Given the description of an element on the screen output the (x, y) to click on. 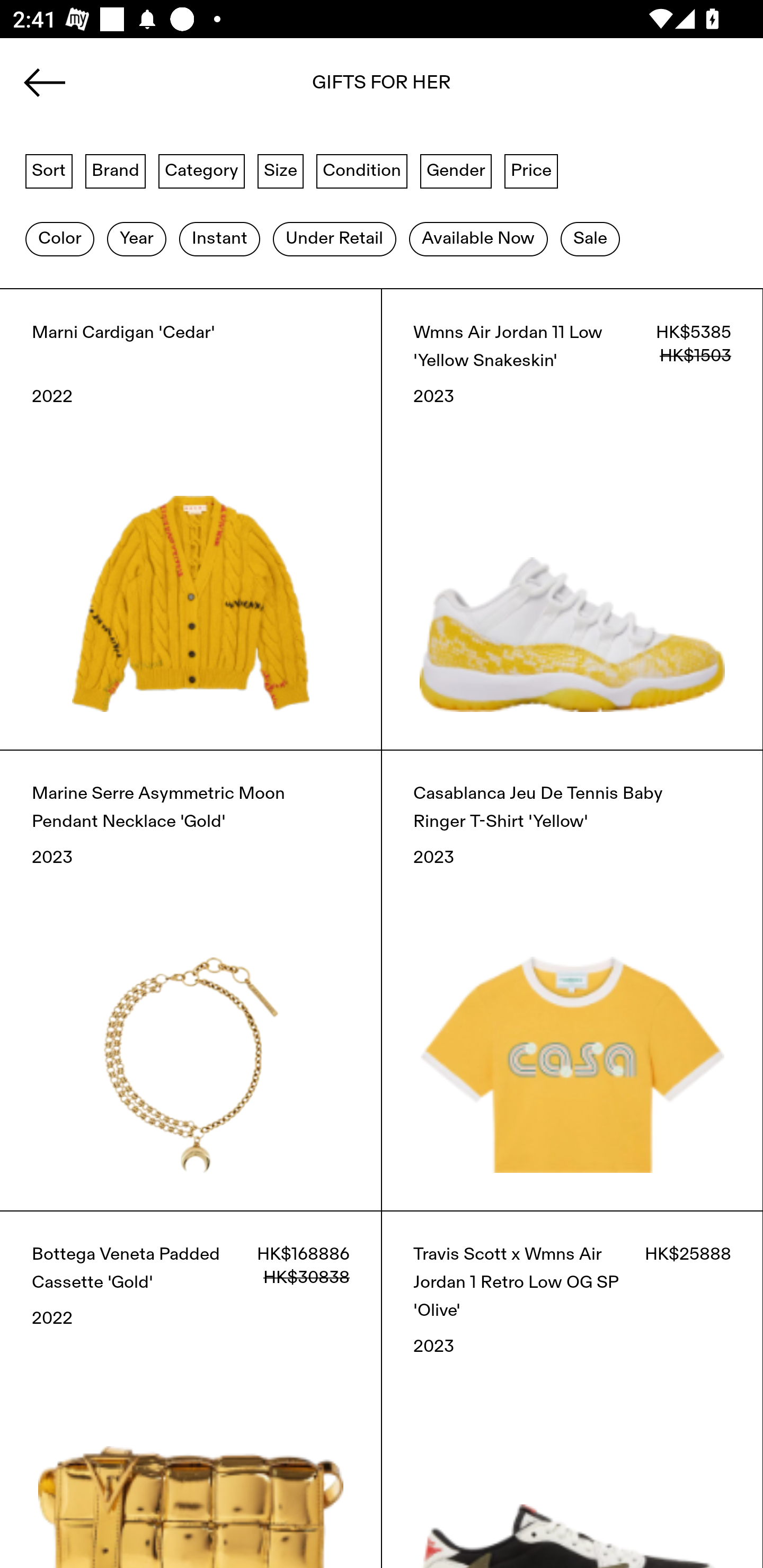
air jordan (381, 88)
Sort (48, 170)
Brand (115, 170)
Category (201, 170)
Size (280, 170)
Condition (361, 170)
Gender (455, 170)
Price (530, 170)
Color (59, 239)
Year (136, 239)
Instant (219, 239)
Under Retail (334, 239)
Available Now (477, 239)
Sale (589, 239)
Marni Cardigan 'Cedar' 2022 (190, 518)
